Given the description of an element on the screen output the (x, y) to click on. 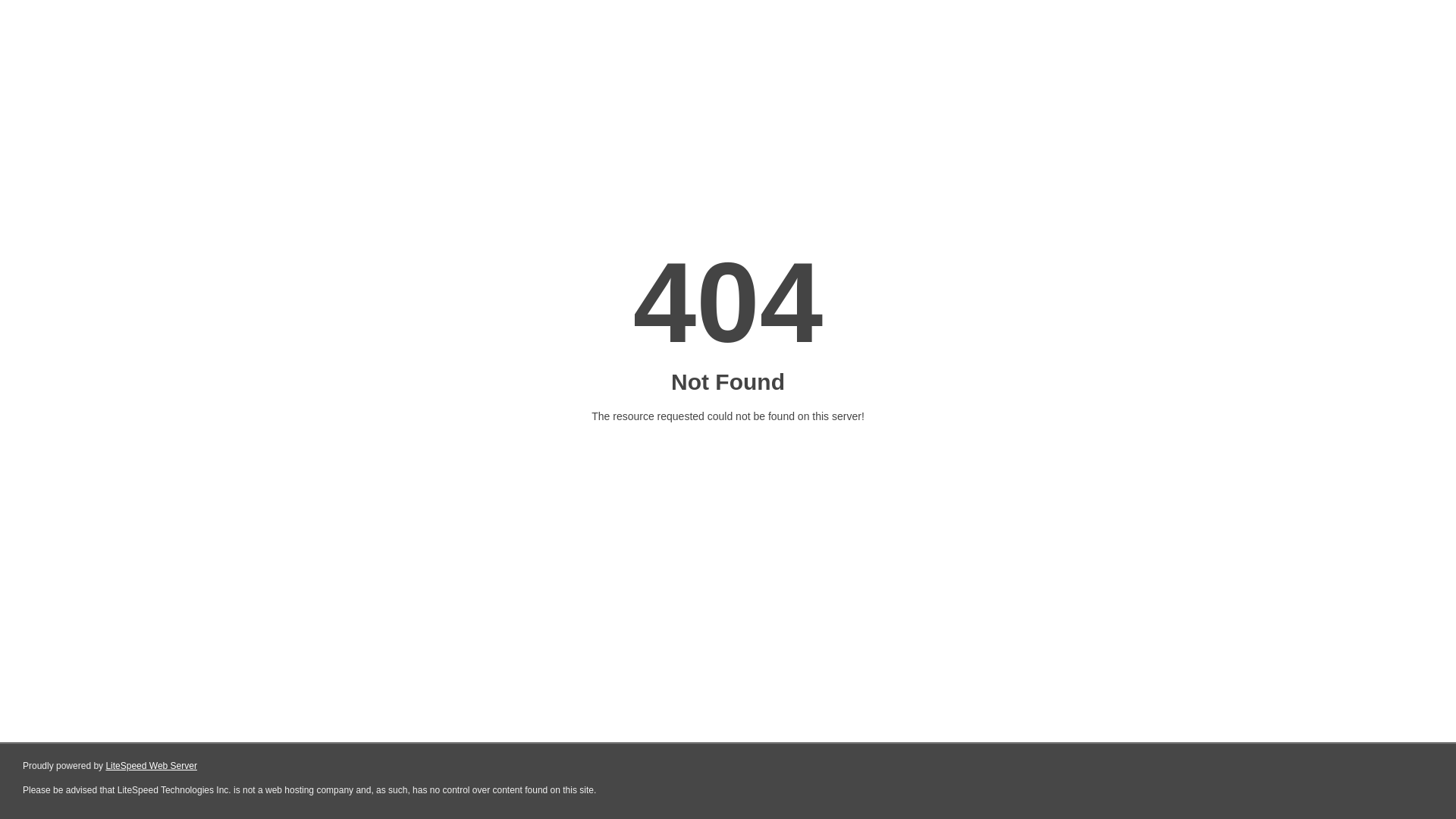
LiteSpeed Web Server Element type: text (151, 765)
